Given the description of an element on the screen output the (x, y) to click on. 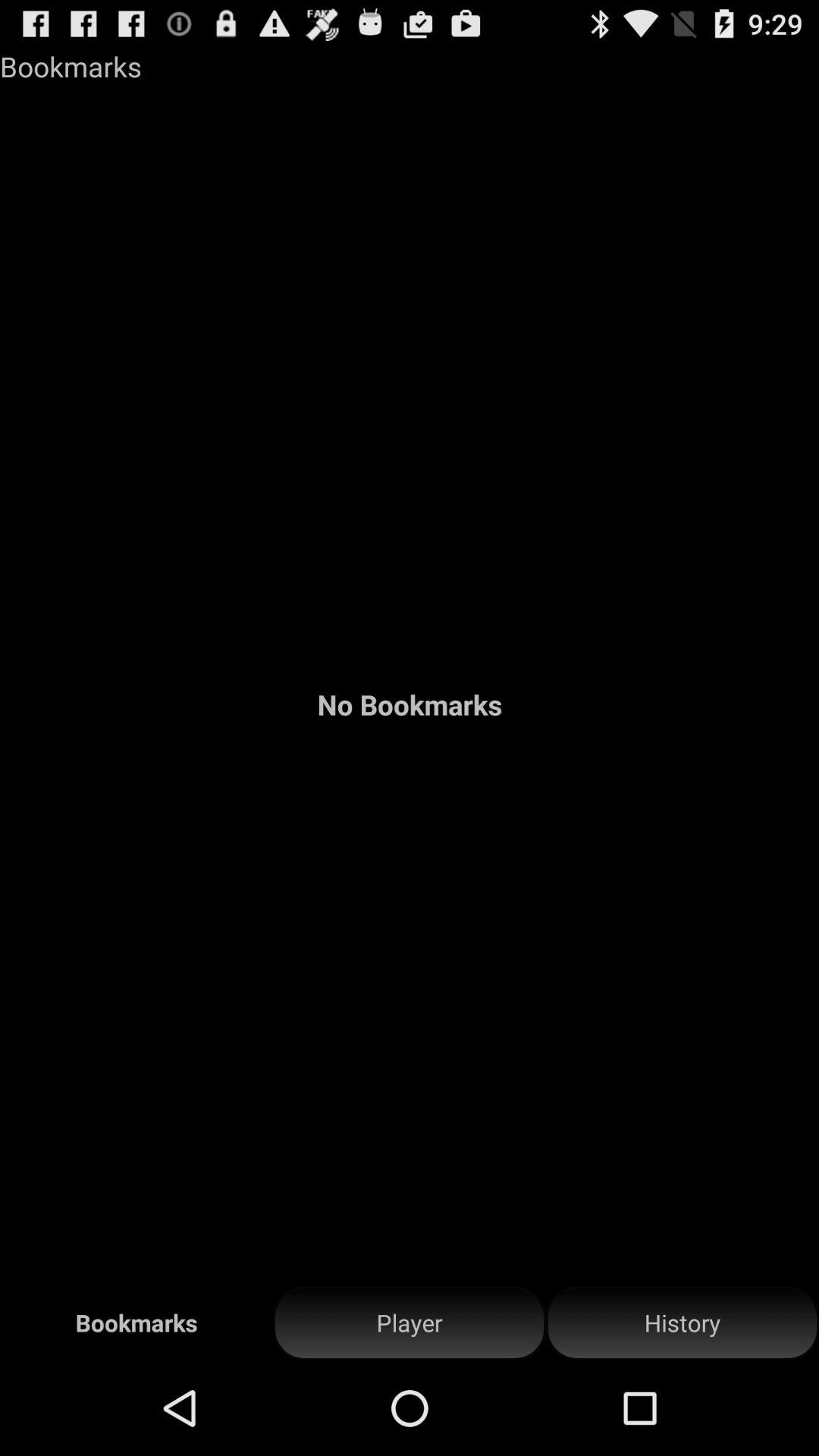
click the app below the no bookmarks icon (682, 1323)
